Given the description of an element on the screen output the (x, y) to click on. 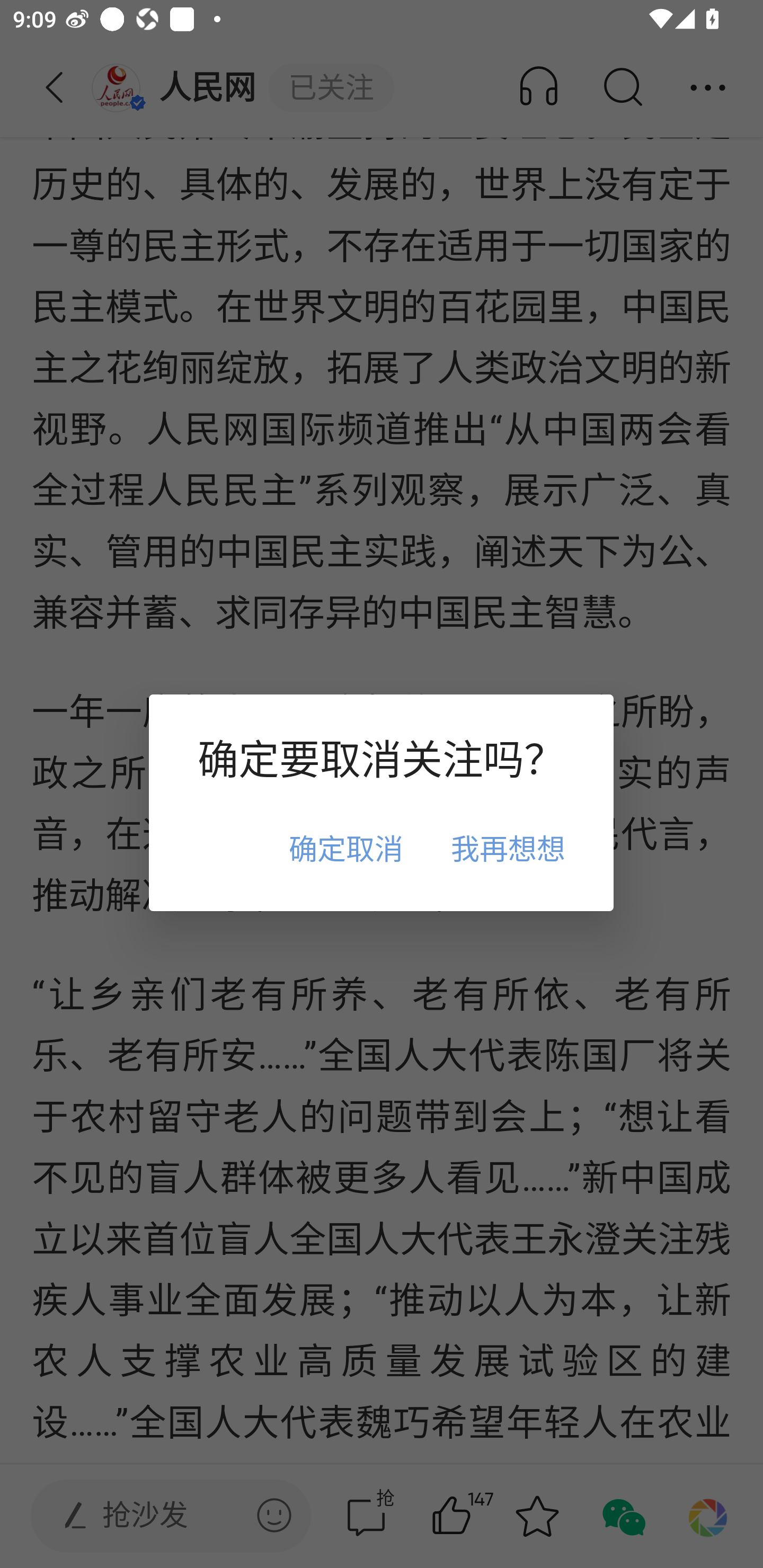
确定取消 (345, 848)
我再想想 (508, 848)
